Given the description of an element on the screen output the (x, y) to click on. 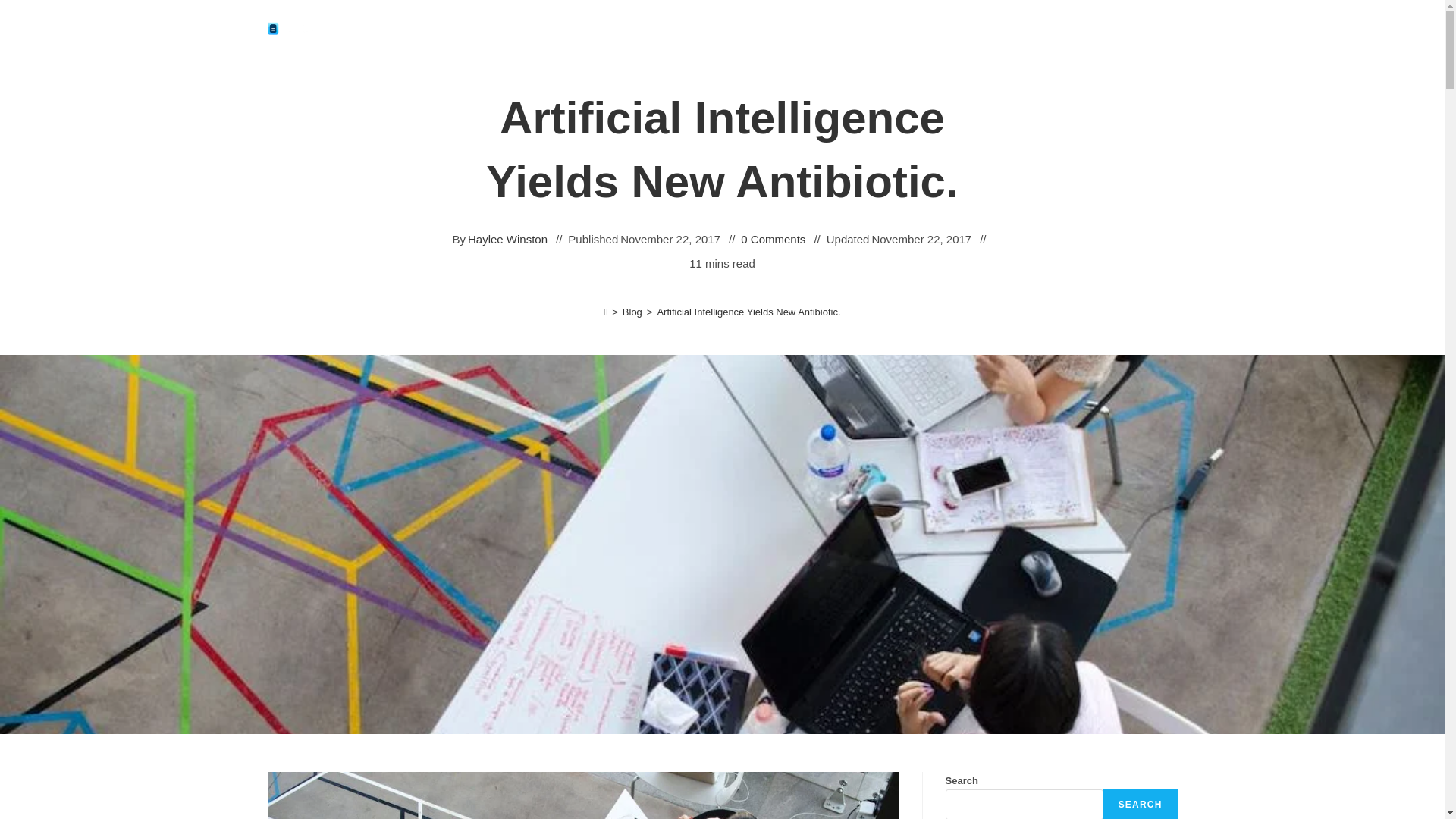
Artificial Intelligence Yields New Antibiotic. (748, 311)
Haylee Winston (507, 239)
Blog (632, 311)
SEARCH (1140, 804)
0 Comments (773, 239)
